Given the description of an element on the screen output the (x, y) to click on. 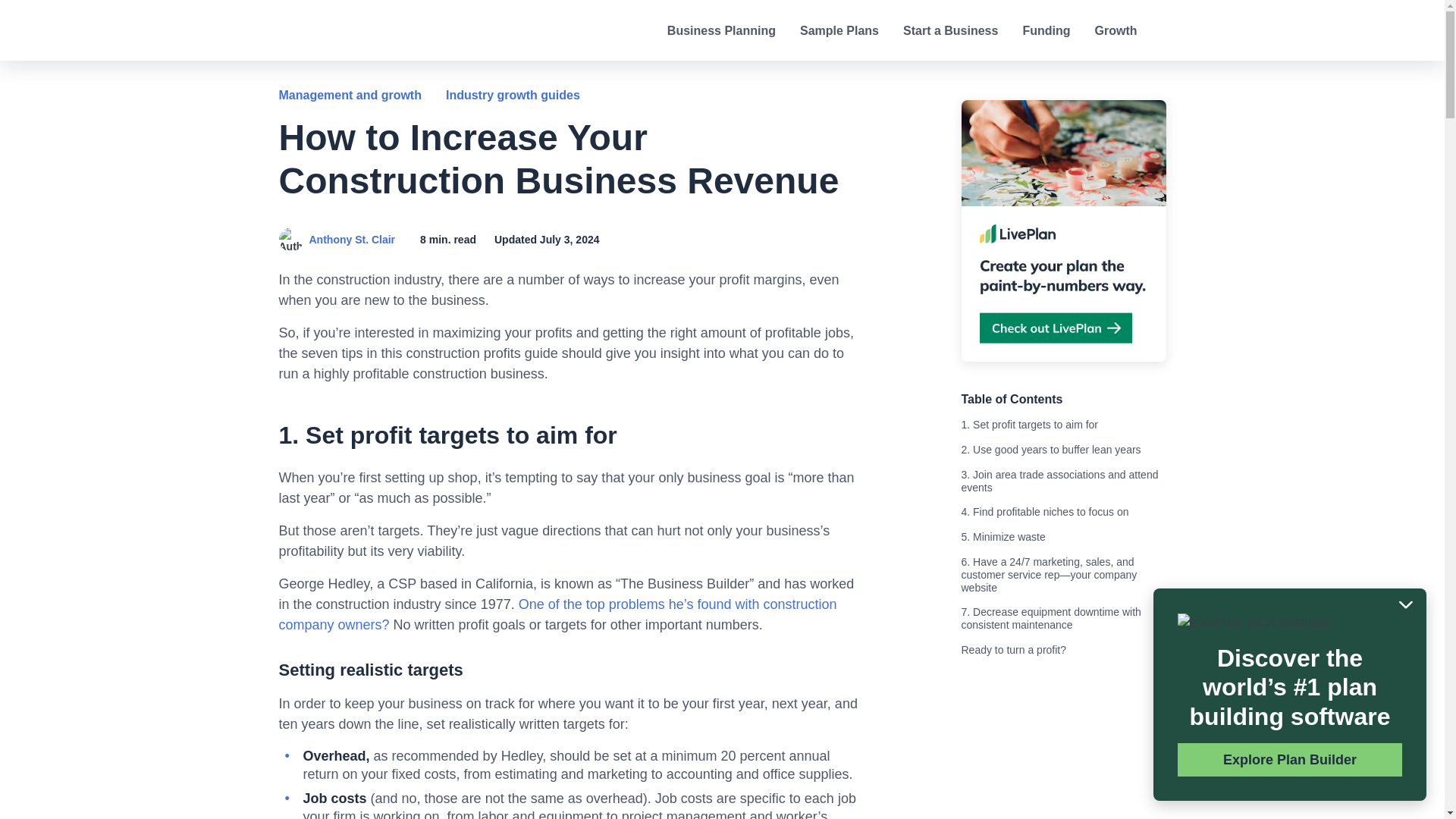
Start a Business (949, 30)
LivePlan pitch example (1253, 622)
Author: Anthony St. Clair (290, 239)
Sample Plans (839, 30)
Business Planning (721, 30)
Growth (1115, 30)
Funding (1046, 30)
